Given the description of an element on the screen output the (x, y) to click on. 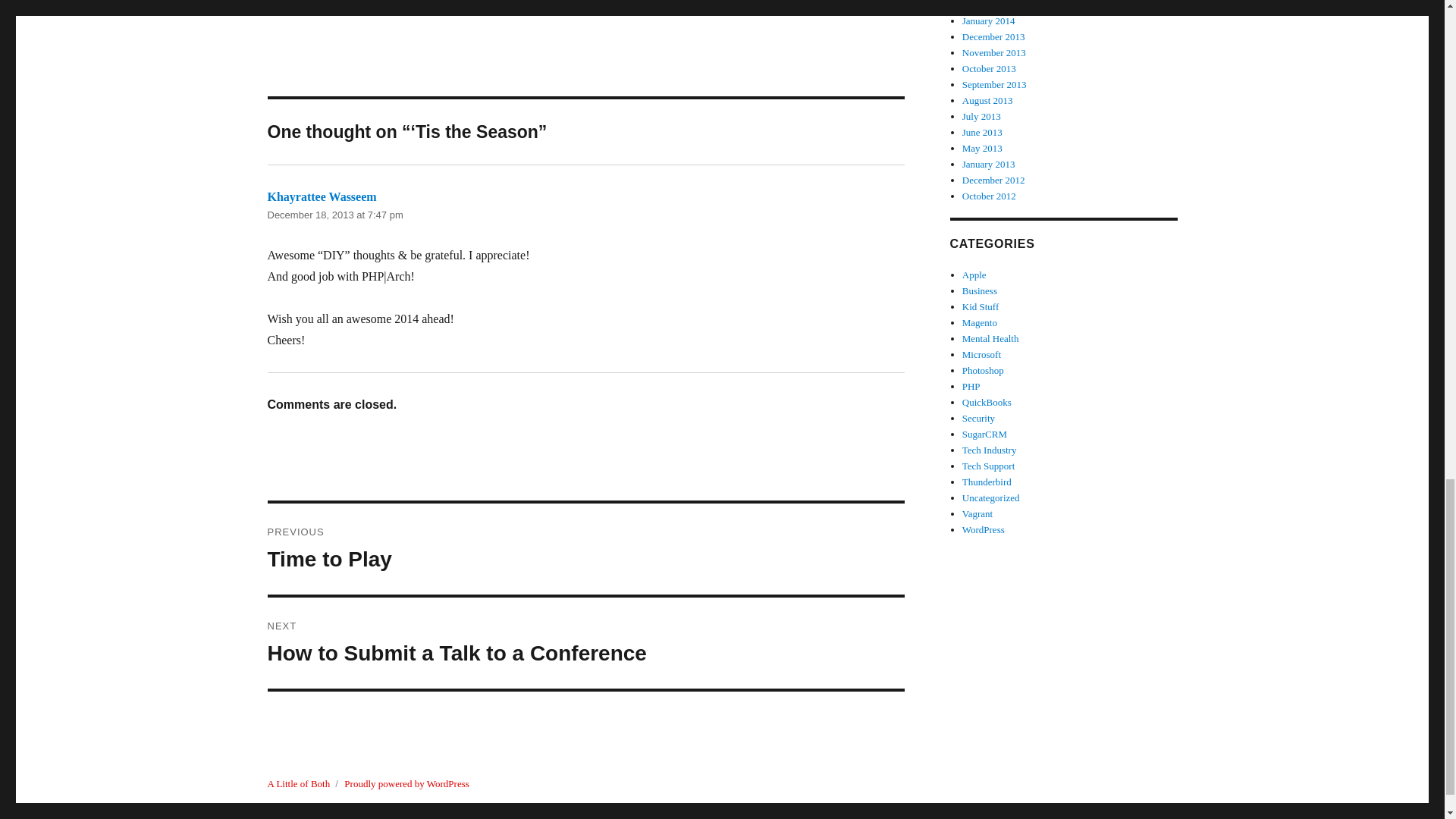
December 18, 2013 at 7:47 pm (334, 214)
Khayrattee Wasseem (585, 642)
